Given the description of an element on the screen output the (x, y) to click on. 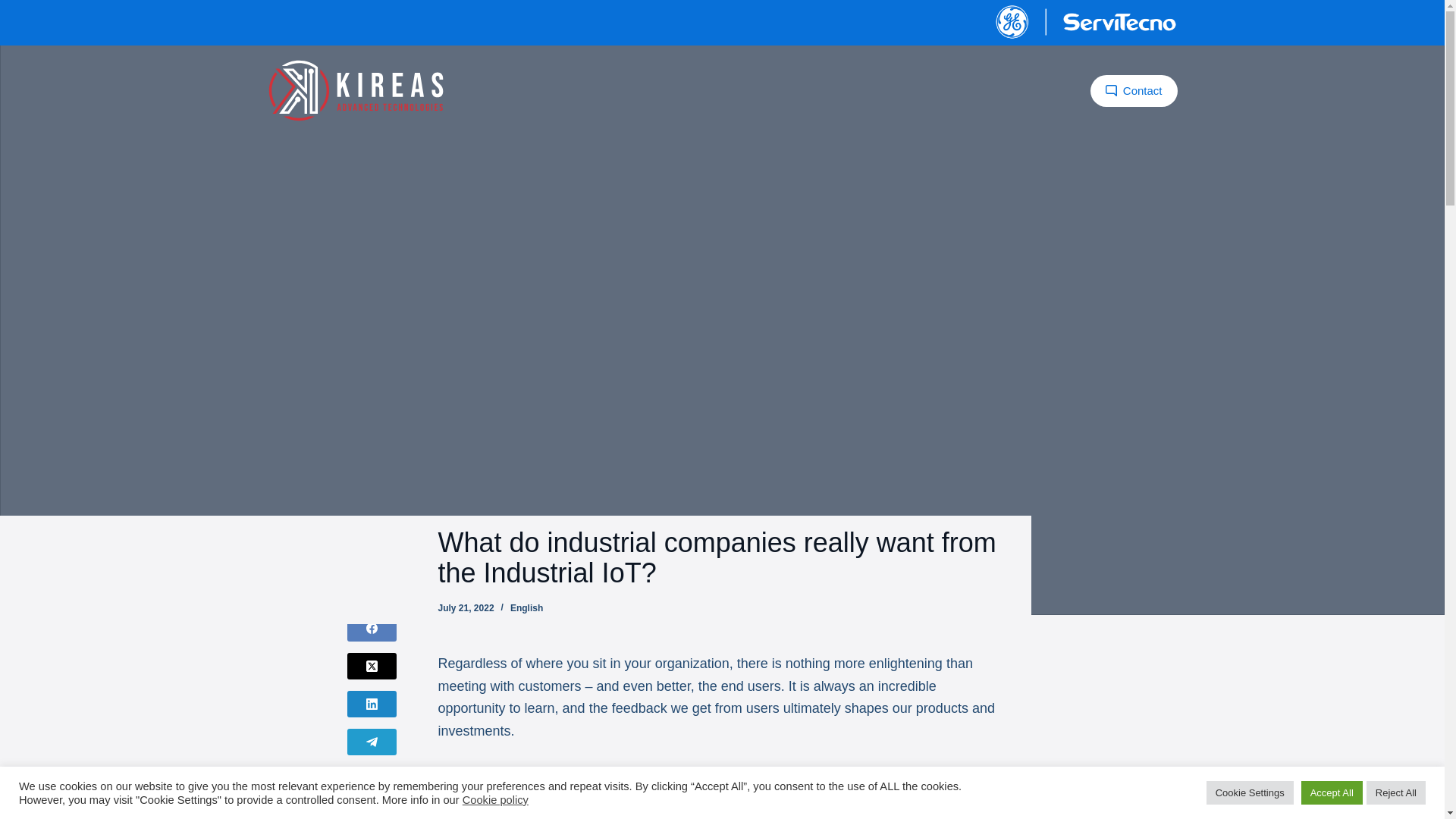
Cookie policy (495, 799)
Reject All (1396, 792)
Contact (1133, 91)
Cookie Settings (1250, 792)
English (527, 607)
Skip to content (15, 7)
Accept All (1331, 792)
